Given the description of an element on the screen output the (x, y) to click on. 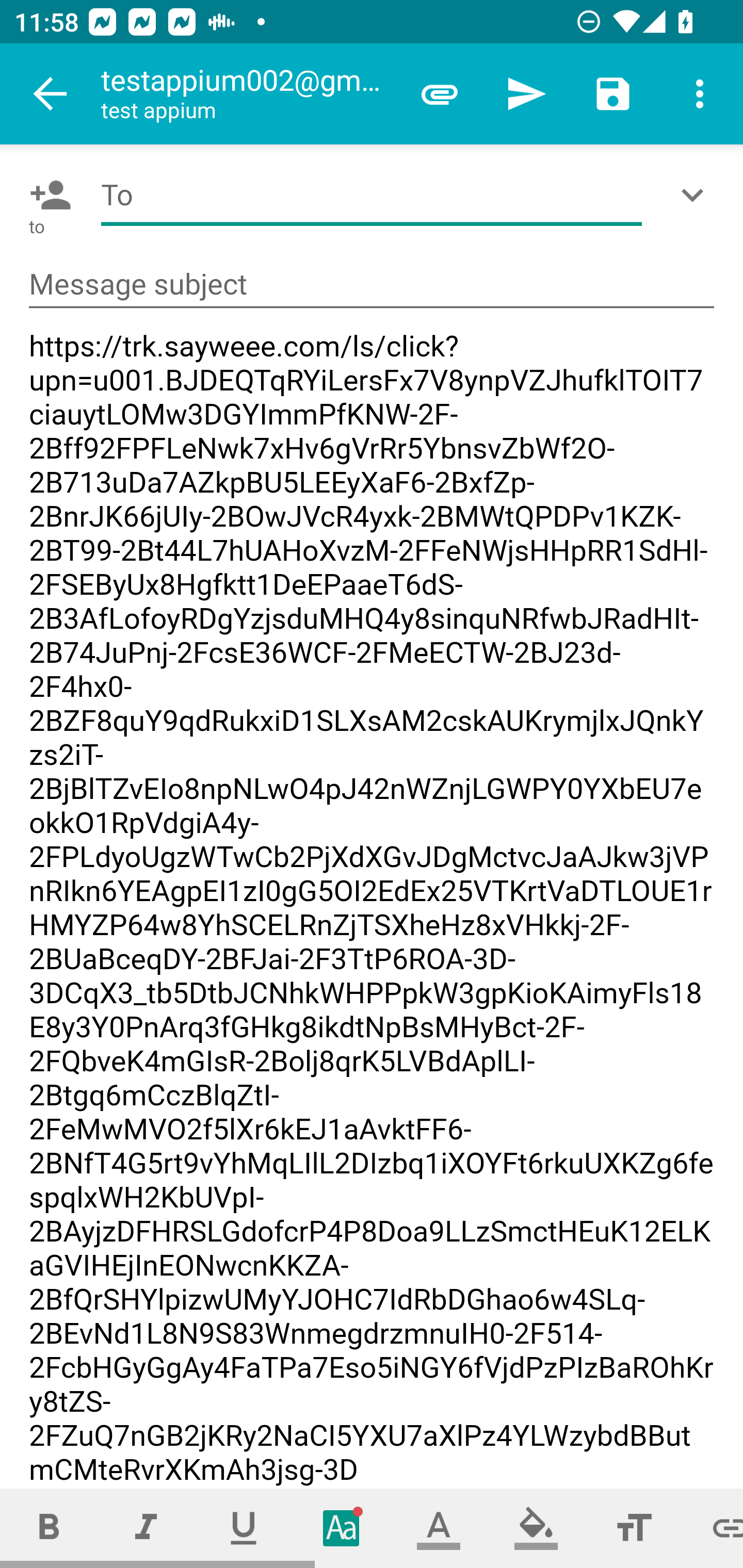
Navigate up (50, 93)
testappium002@gmail.com test appium (248, 93)
Attach (439, 93)
Send (525, 93)
Save (612, 93)
More options (699, 93)
Pick contact: To (46, 195)
Show/Add CC/BCC (696, 195)
To (371, 195)
Message subject (371, 284)
Bold (48, 1528)
Italic (145, 1528)
Underline (243, 1528)
Typeface (font) (341, 1528)
Text color (438, 1528)
Fill color (536, 1528)
Font size (633, 1528)
Set link (712, 1528)
